Given the description of an element on the screen output the (x, y) to click on. 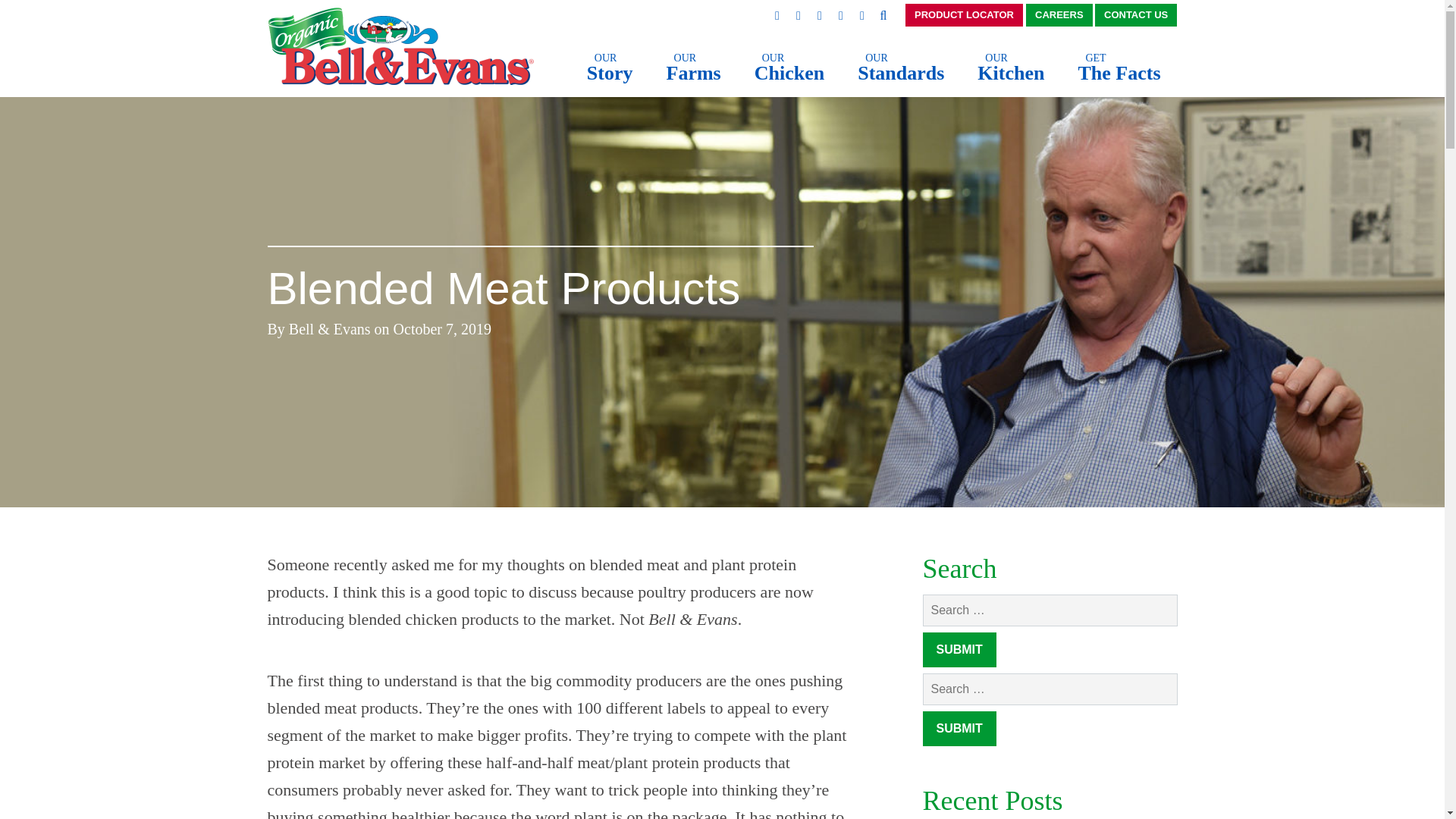
Submit (693, 69)
Submit (609, 69)
